Given the description of an element on the screen output the (x, y) to click on. 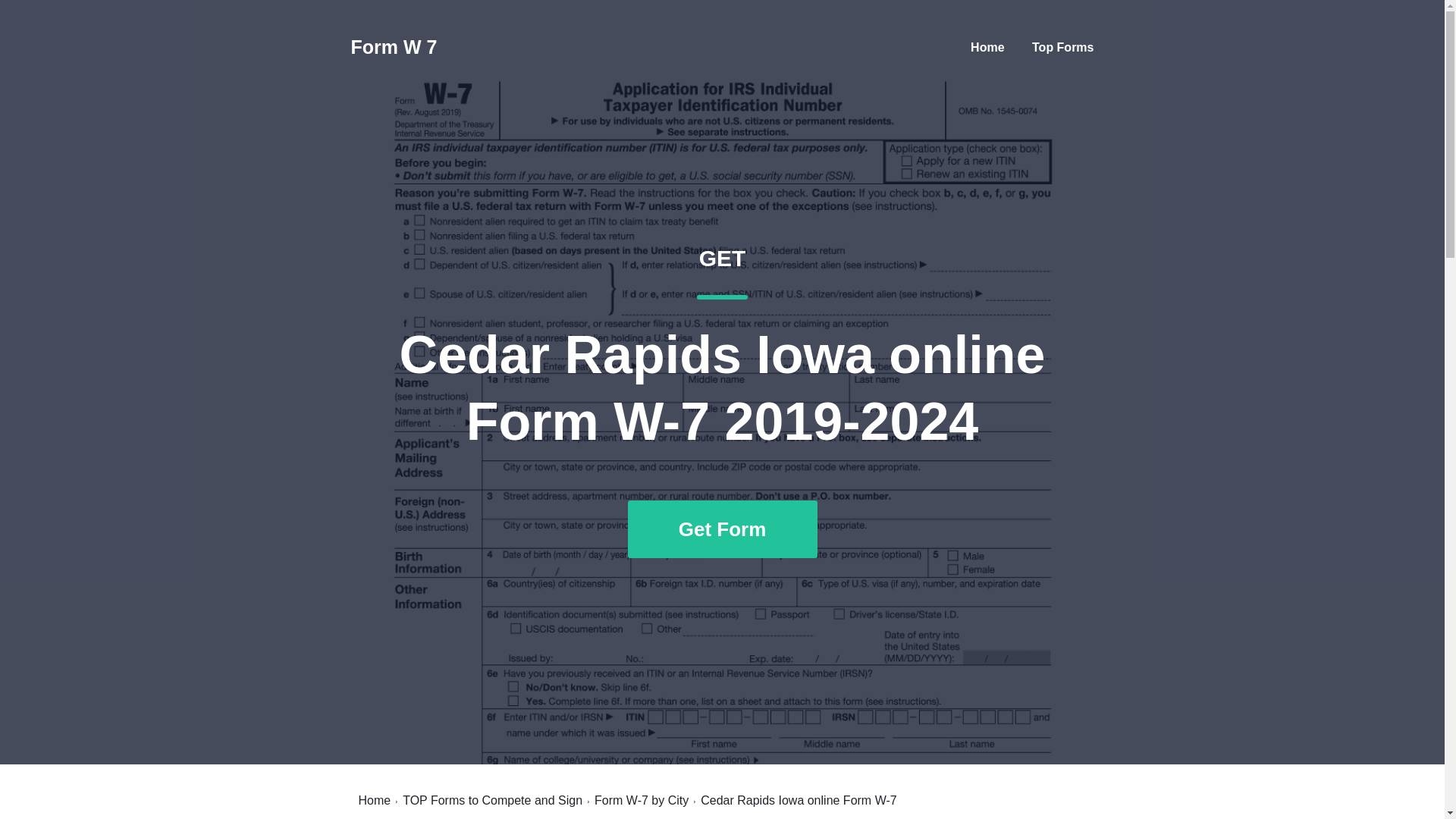
Form W-7 by City (641, 800)
Top Forms (1062, 47)
Home (393, 46)
TOP Forms to Compete and Sign (374, 800)
Home (492, 800)
